Given the description of an element on the screen output the (x, y) to click on. 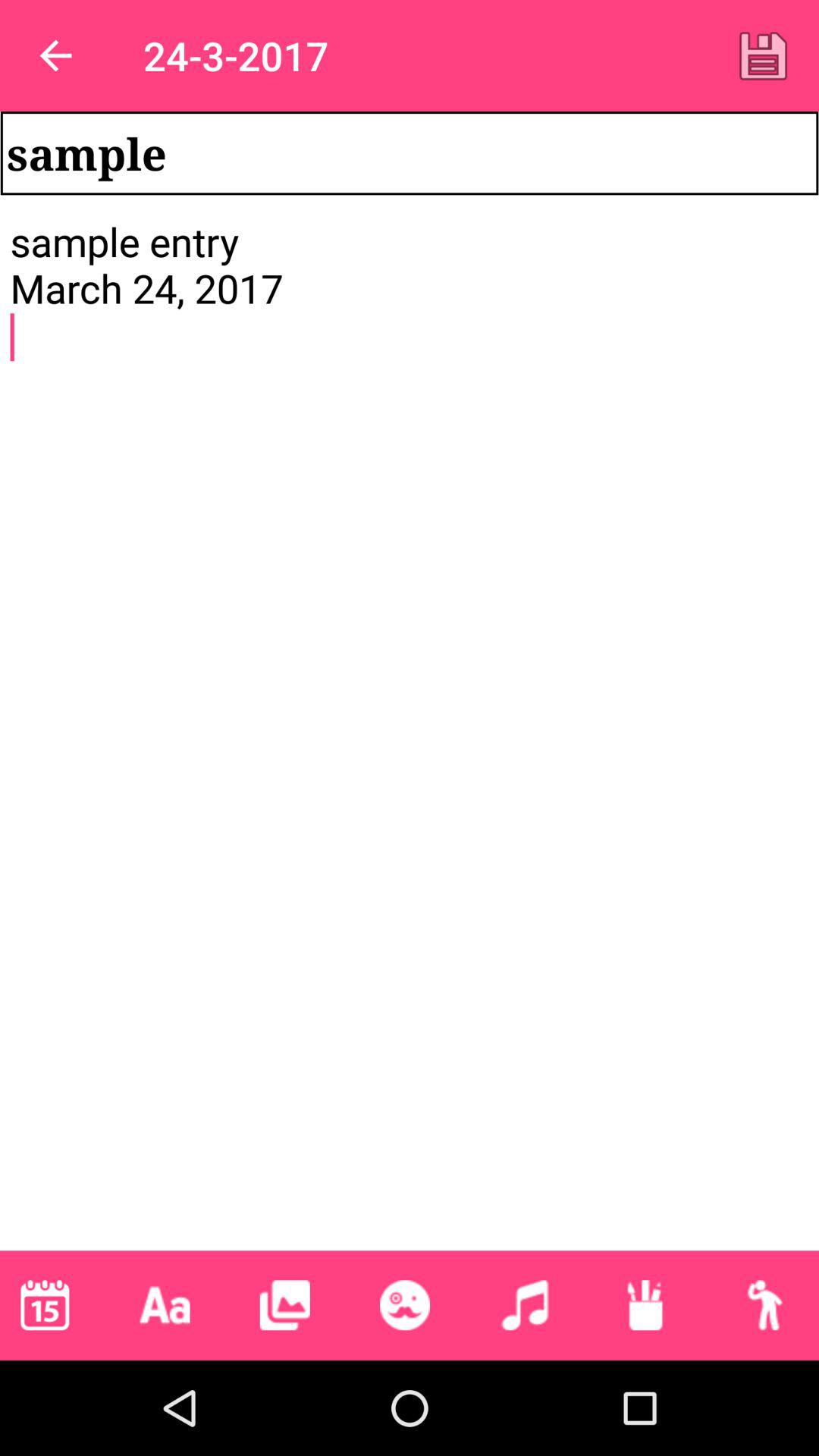
music (524, 1305)
